Given the description of an element on the screen output the (x, y) to click on. 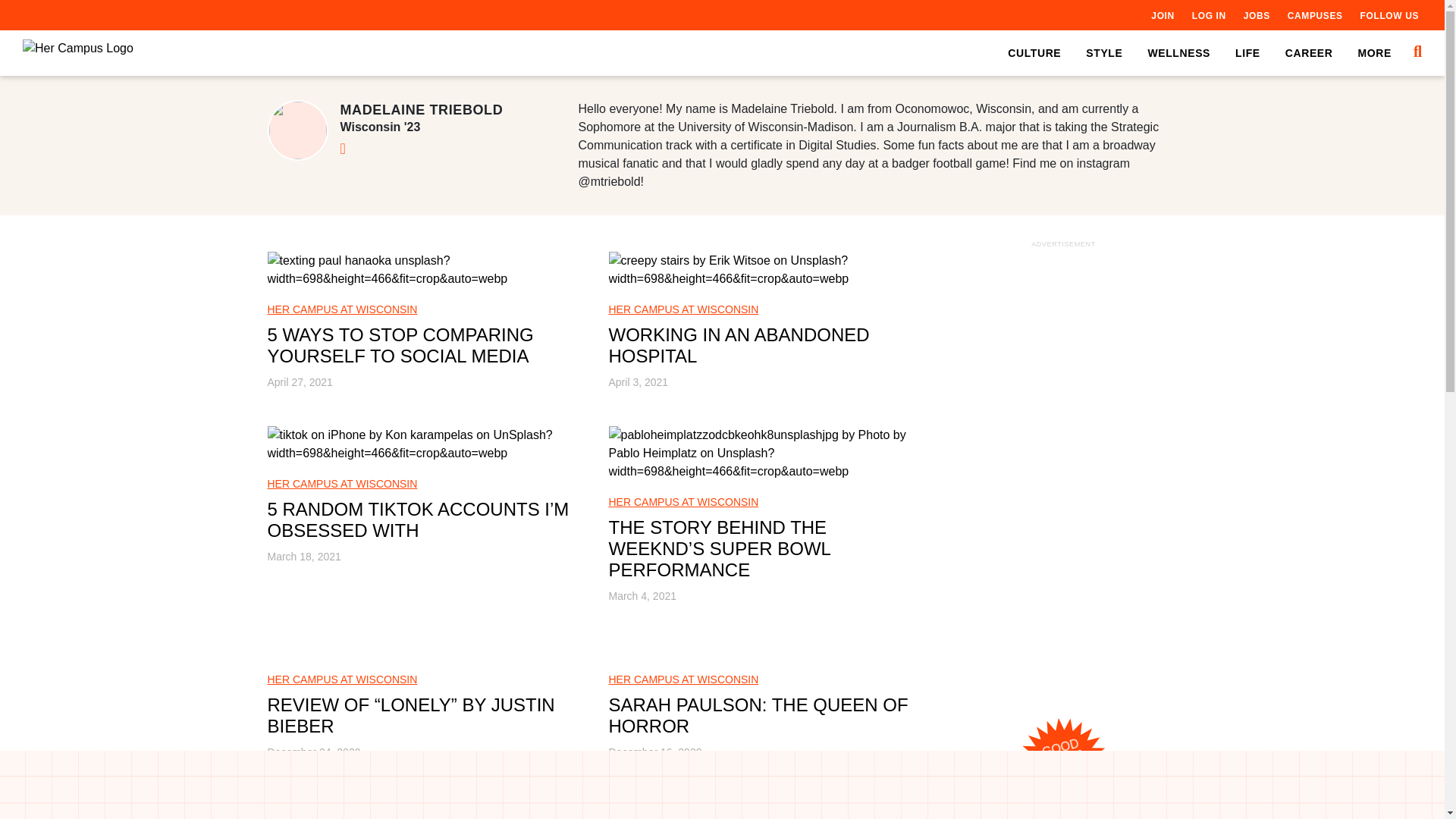
5 Random TikTok Accounts I'm Obsessed With 3 (425, 443)
CAMPUSES (1314, 15)
LOG IN (1208, 15)
The Story Behind The Weeknd's Super Bowl Performance 4 (767, 452)
5 Ways to Stop Comparing Yourself to Social Media 1 (425, 269)
JOIN (1162, 15)
Working in an Abandoned Hospital 2 (767, 269)
5 Ways to Covid-Proof the Holiday Season 8 (767, 807)
JOBS (1256, 15)
